Given the description of an element on the screen output the (x, y) to click on. 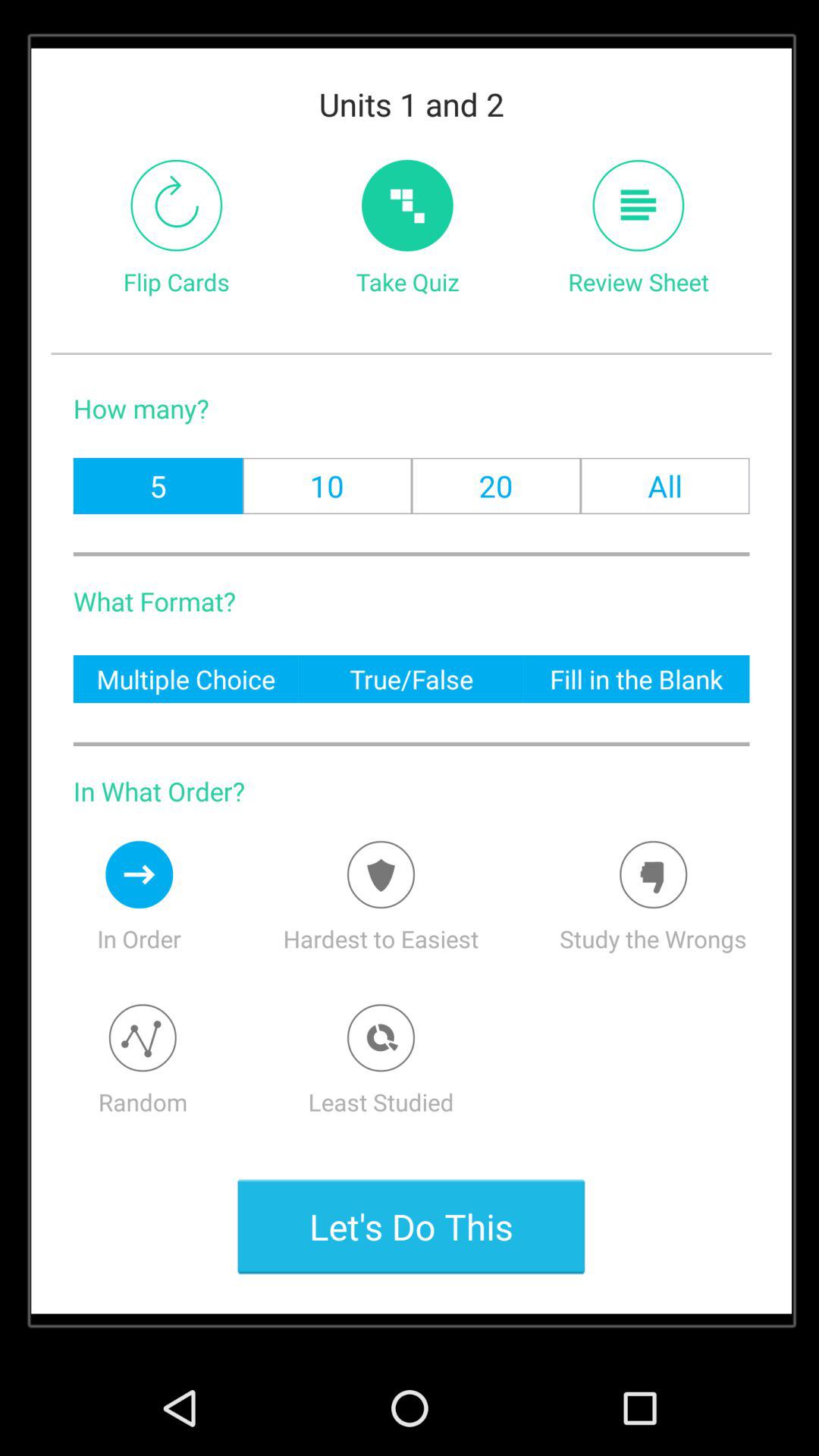
tap item next to true/false (636, 678)
